Given the description of an element on the screen output the (x, y) to click on. 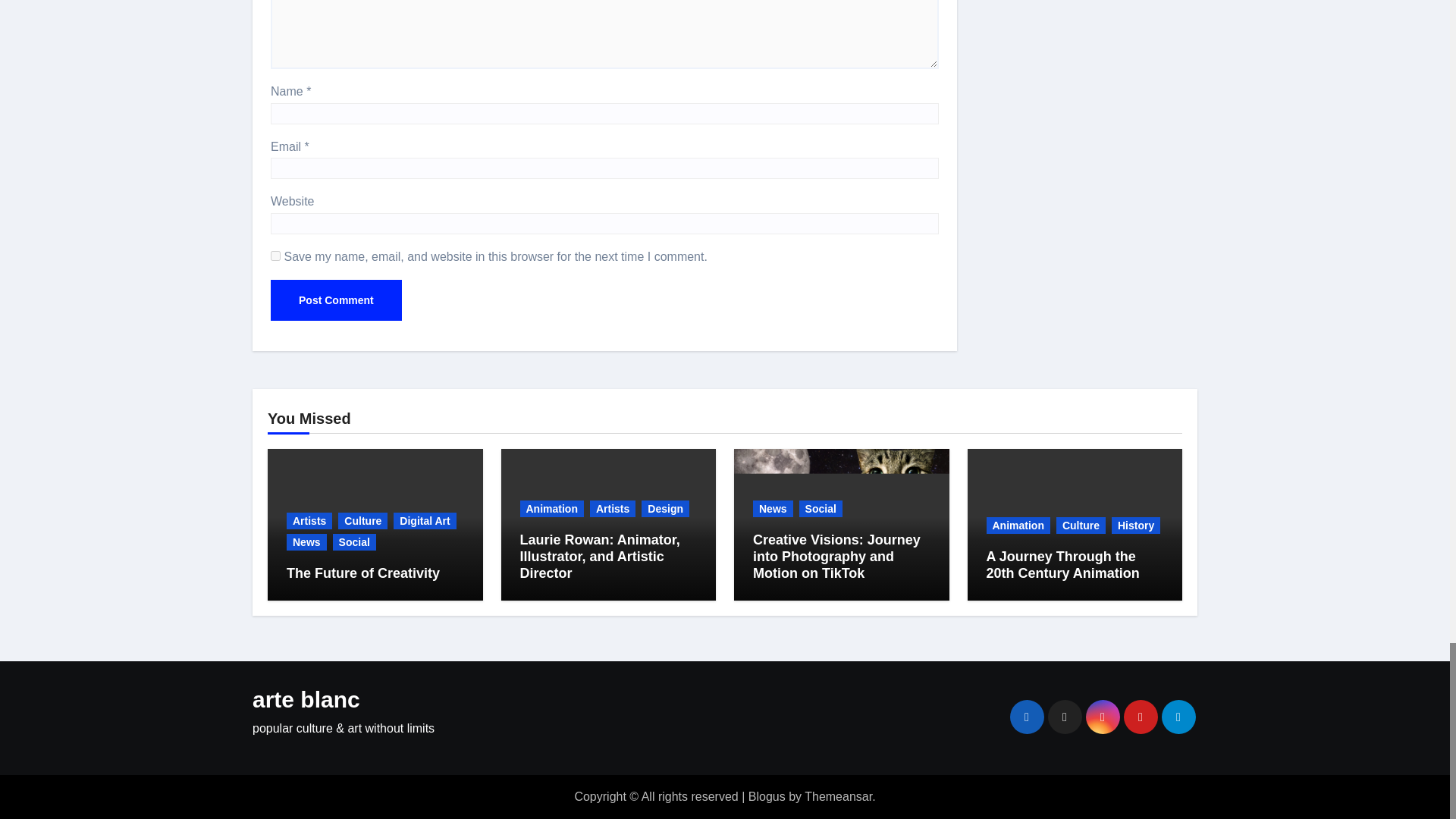
Permalink to: The Future of Creativity (362, 572)
Permalink to: A Journey Through the 20th Century Animation (1061, 564)
yes (275, 255)
Post Comment (335, 300)
